Given the description of an element on the screen output the (x, y) to click on. 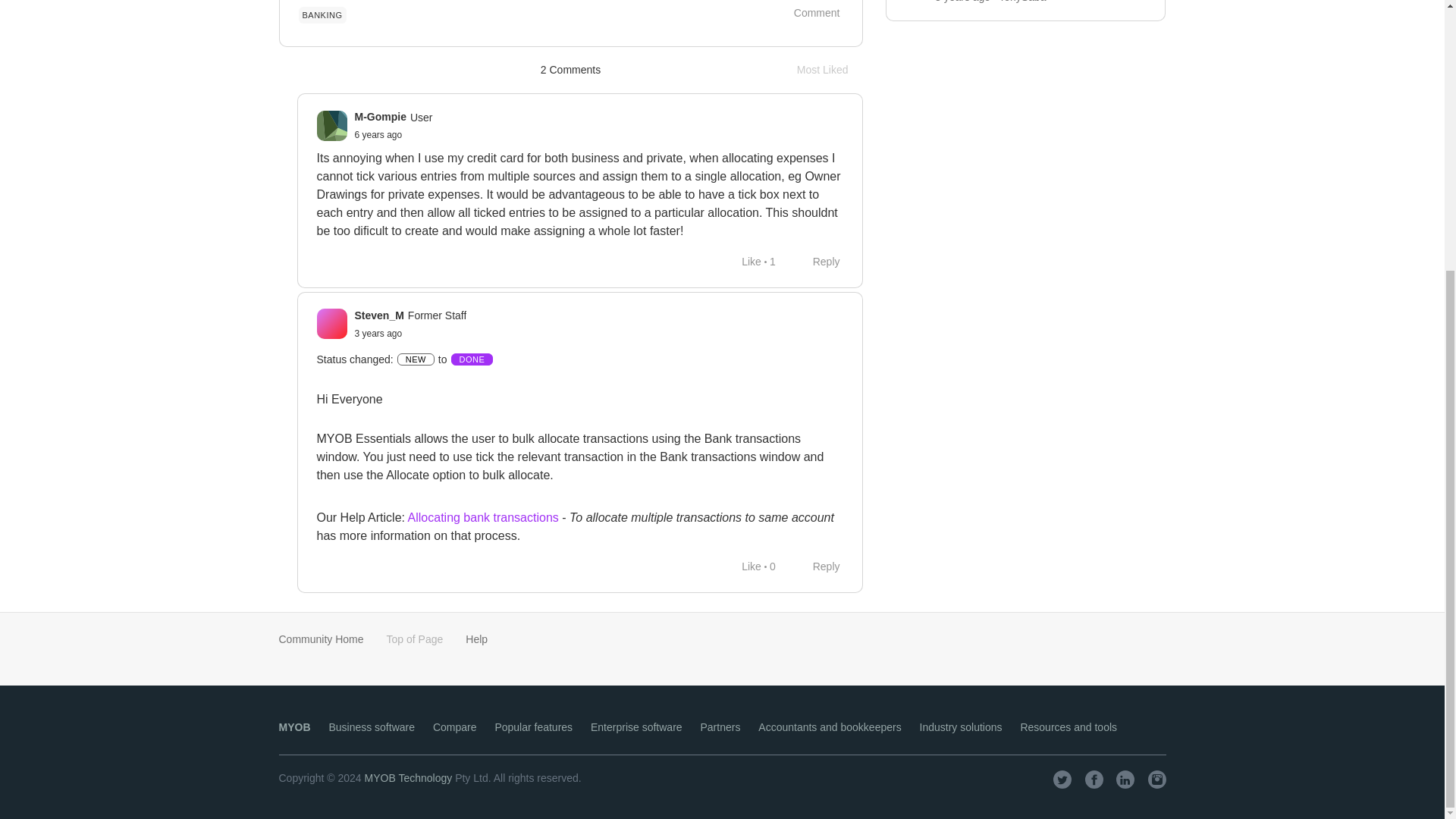
Instagram (1157, 779)
3 years ago (379, 333)
Like (743, 261)
June 29, 2022 at 8:16 AM (379, 333)
Reply (818, 261)
MYOB Technology (408, 777)
July 3, 2019 at 10:48 AM (379, 134)
BANKING (322, 14)
LinkedIn (1125, 779)
M-Gompie (380, 116)
Comment (829, 69)
Facebook (808, 13)
6 years ago (1093, 779)
Twitter (379, 134)
